Given the description of an element on the screen output the (x, y) to click on. 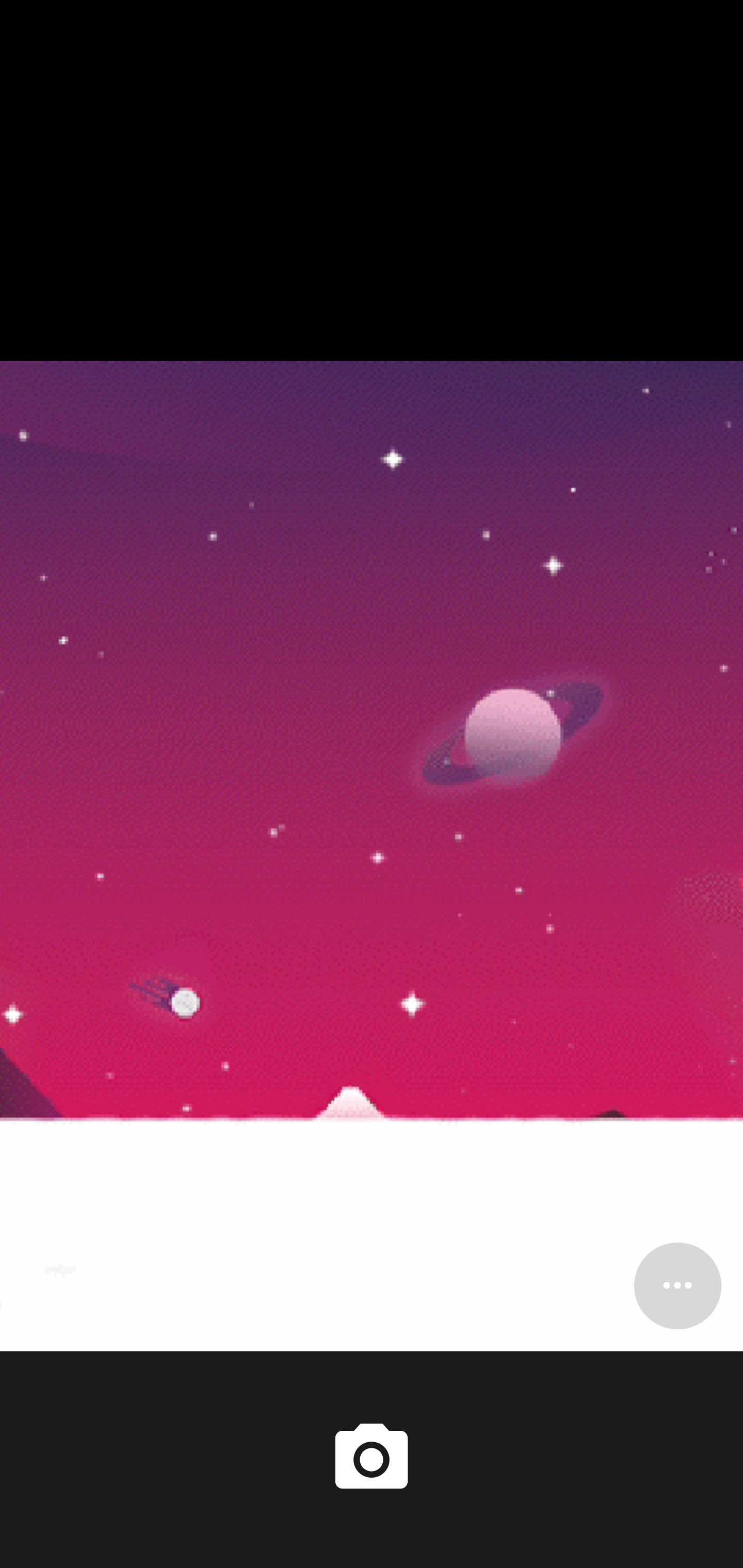
Options (677, 1285)
Shutter (371, 1459)
